Given the description of an element on the screen output the (x, y) to click on. 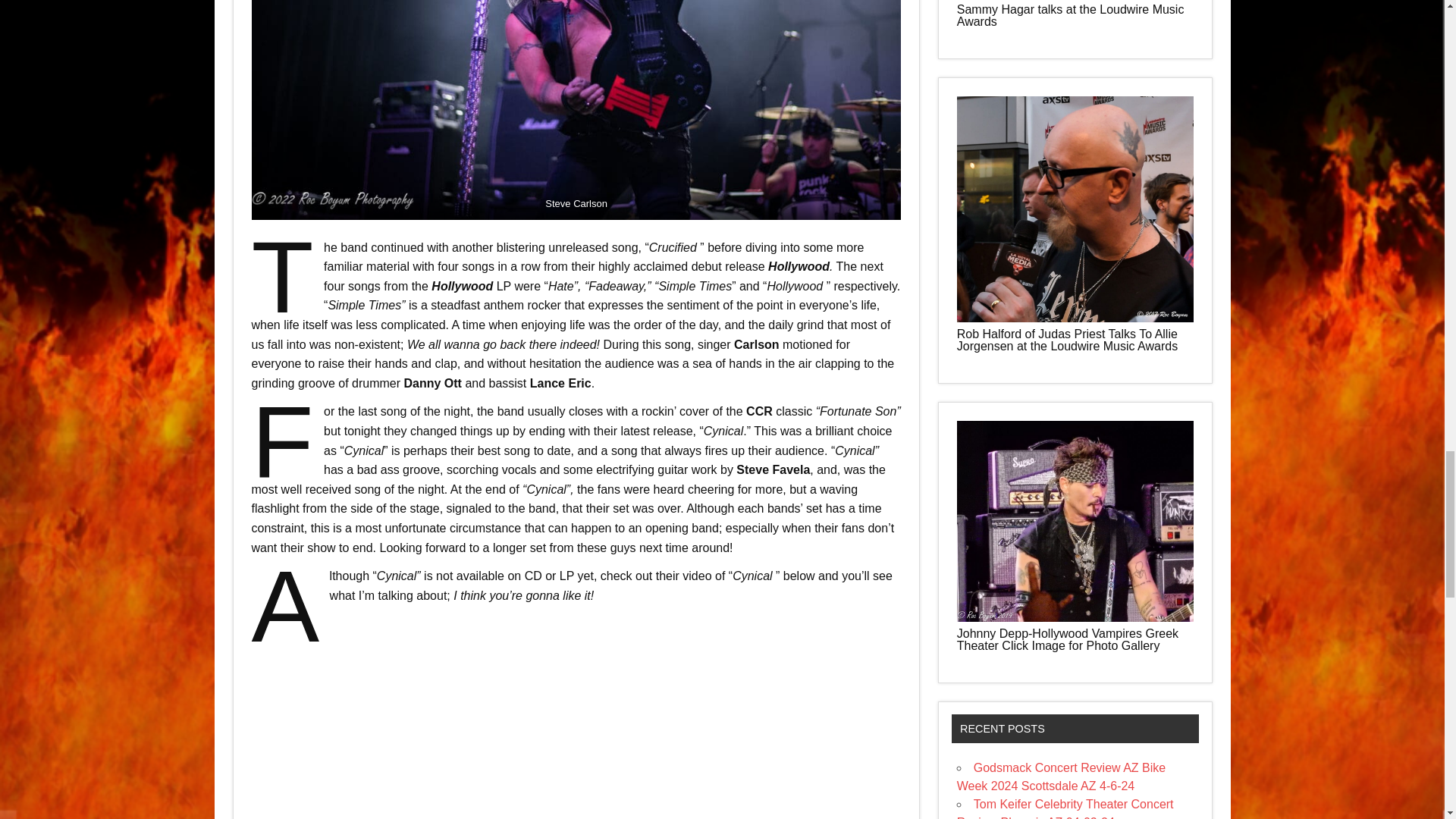
Cynical (576, 729)
